Given the description of an element on the screen output the (x, y) to click on. 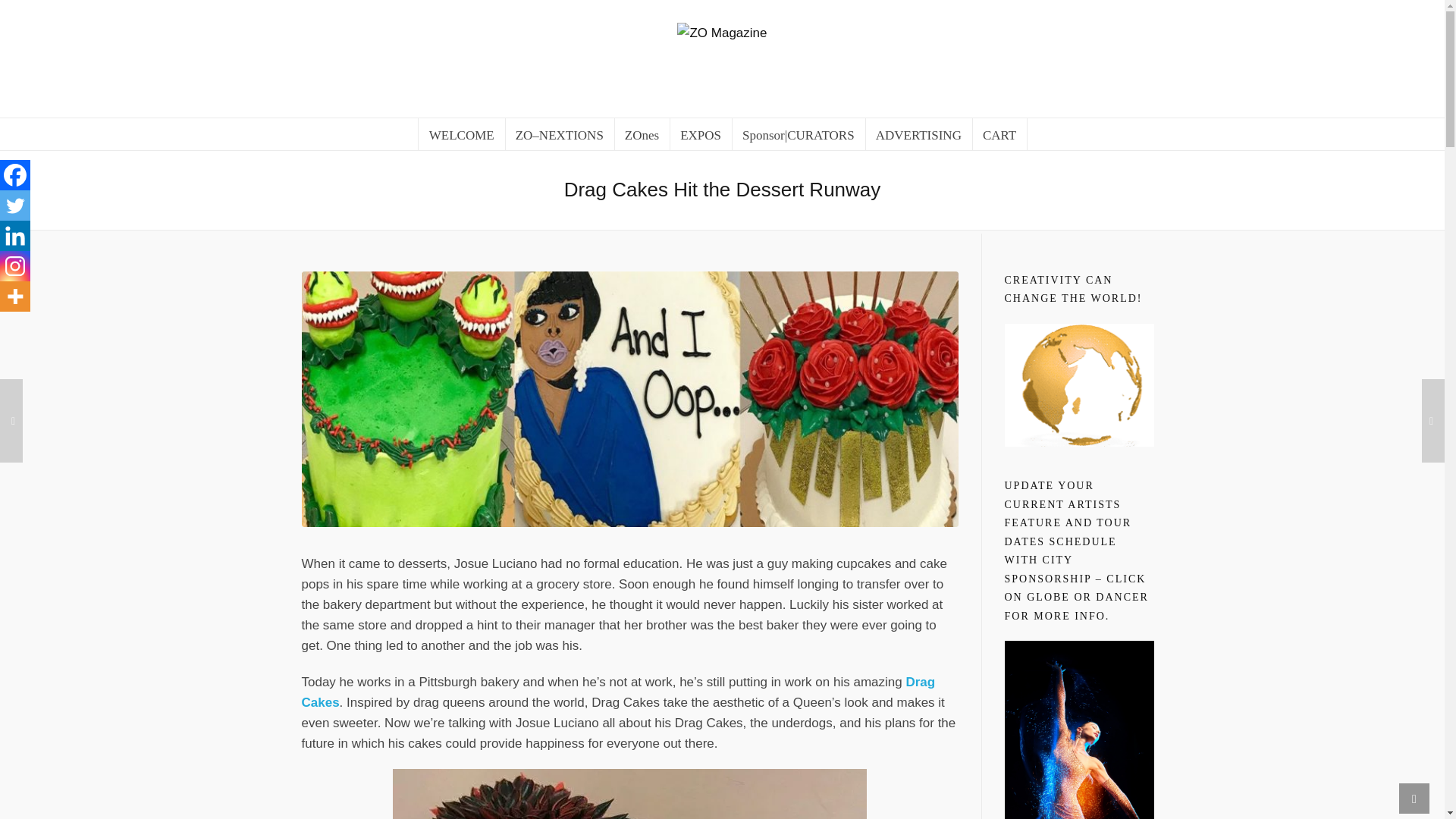
WELCOME (461, 133)
Instagram (15, 265)
More (15, 296)
Linkedin (15, 235)
Twitter (15, 205)
Facebook (15, 174)
